Given the description of an element on the screen output the (x, y) to click on. 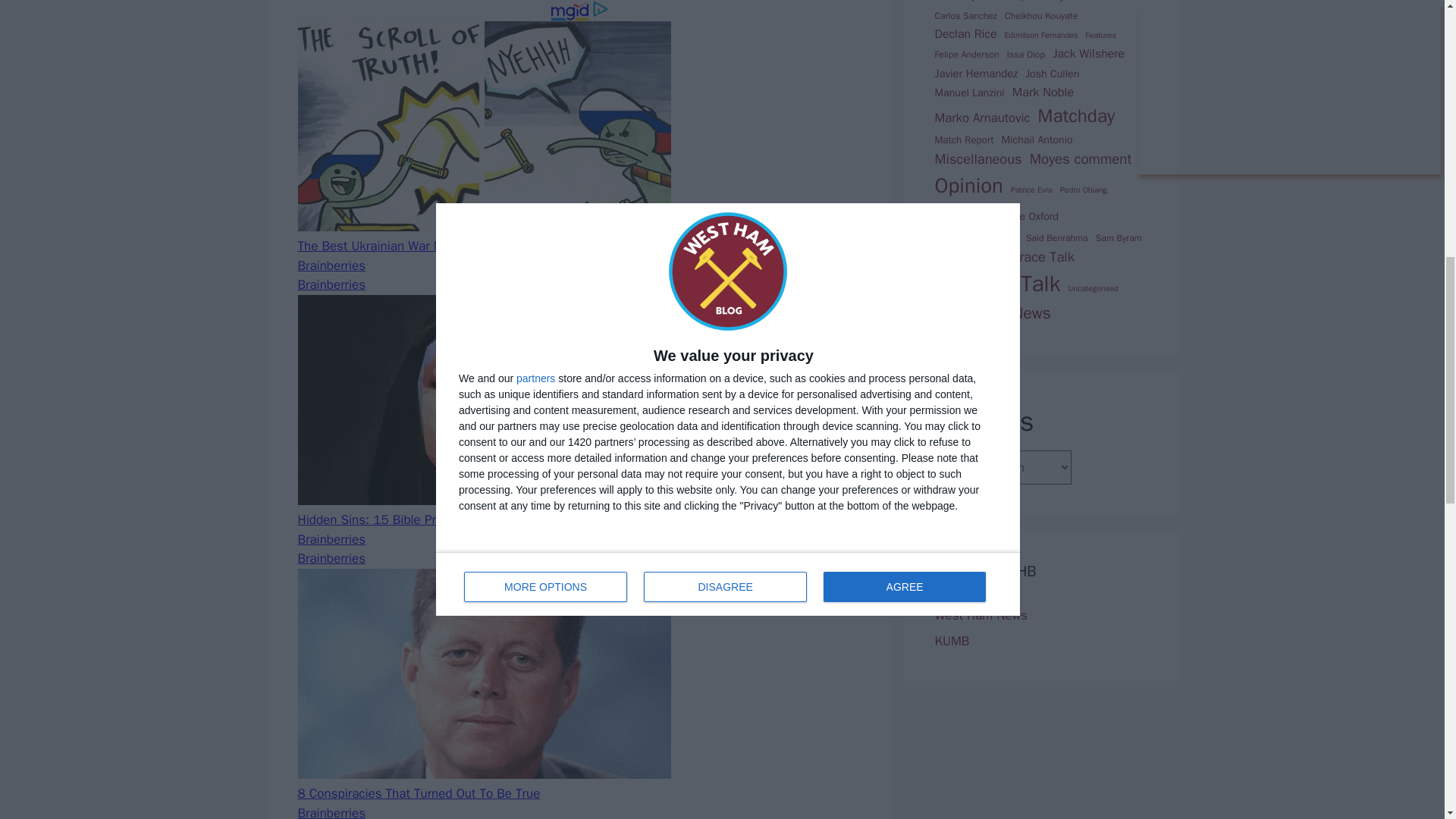
Declan Rice (964, 34)
Features (1101, 35)
Javier Hernandez (975, 73)
Josh Cullen (1051, 73)
Jack Wilshere (1088, 54)
Felipe Anderson (966, 54)
Albian Ajeti (959, 2)
Cheikhou Kouyate (1040, 15)
Andy Carroll (1071, 2)
Andre Ayew (1013, 1)
